Given the description of an element on the screen output the (x, y) to click on. 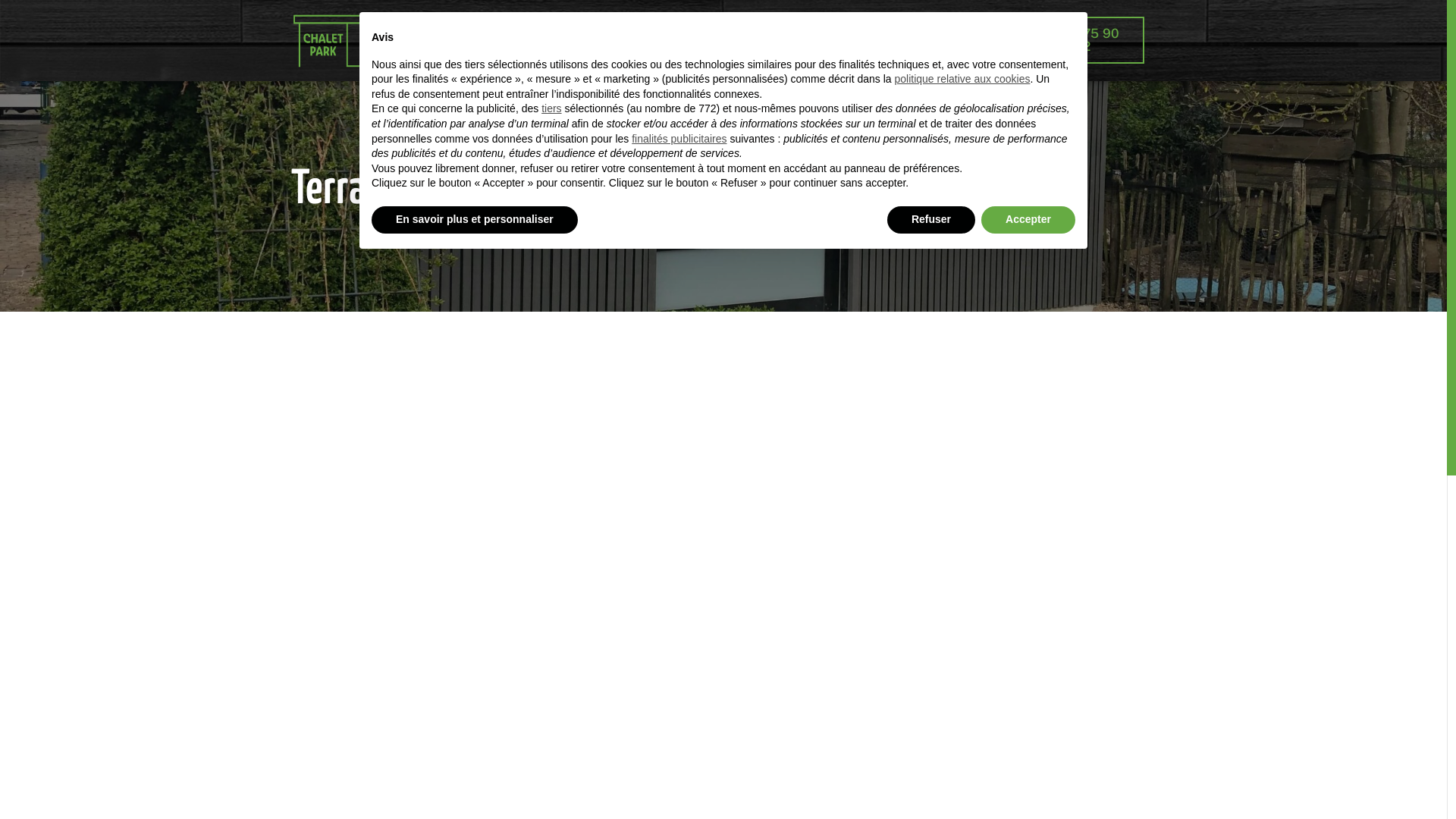
politique relative aux cookies Element type: text (961, 78)
Accepter Element type: text (1028, 219)
En savoir plus et personnaliser Element type: text (474, 219)
tiers Element type: text (551, 108)
FR Element type: text (958, 39)
Bois composite Element type: text (582, 39)
Accueil Element type: text (486, 39)
Offre Element type: text (672, 39)
0496 75 90 92 Element type: text (1081, 39)
Contact Element type: text (888, 39)
Refuser Element type: text (931, 219)
